Given the description of an element on the screen output the (x, y) to click on. 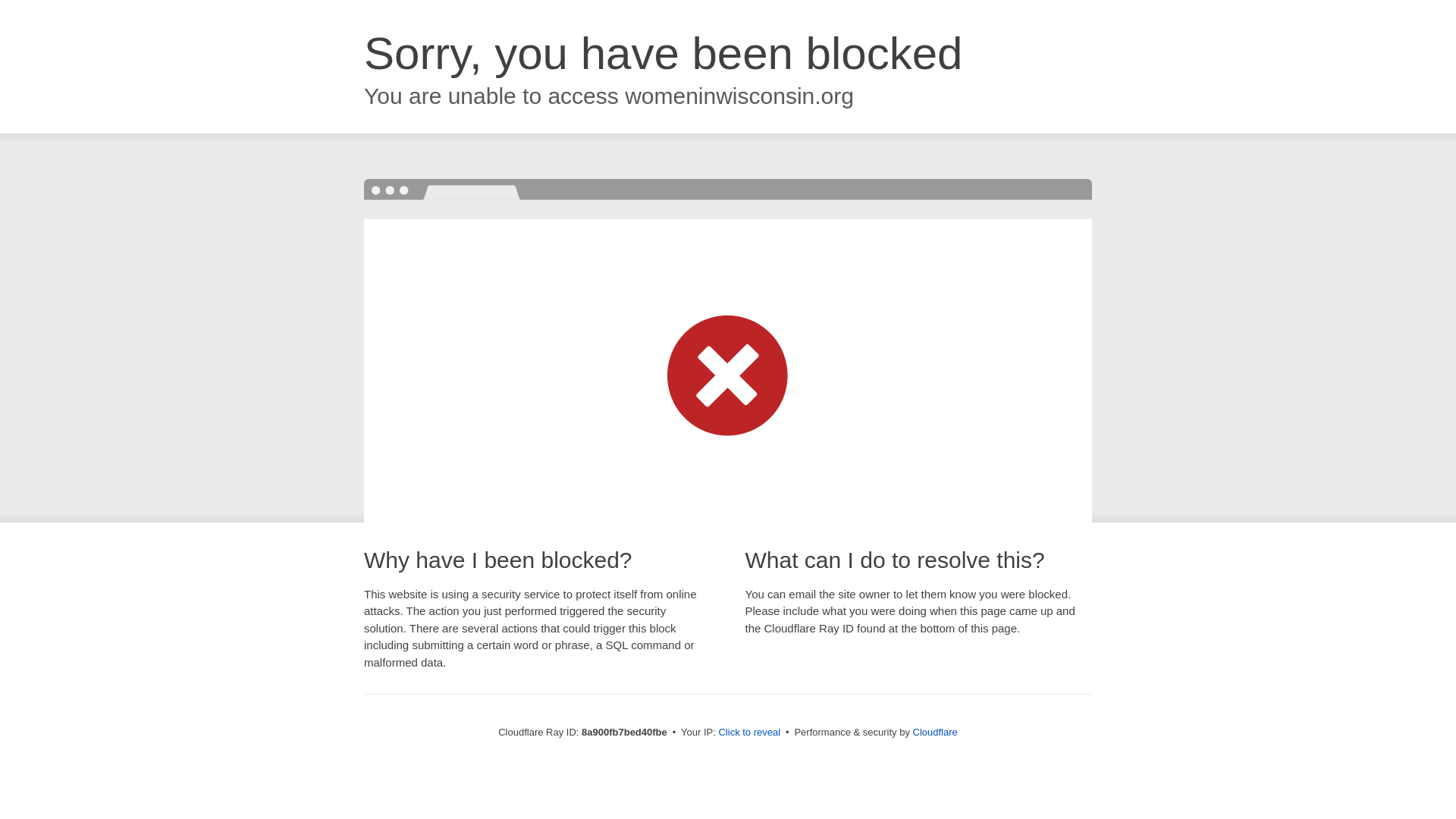
Click to reveal (748, 732)
Cloudflare (935, 731)
